Given the description of an element on the screen output the (x, y) to click on. 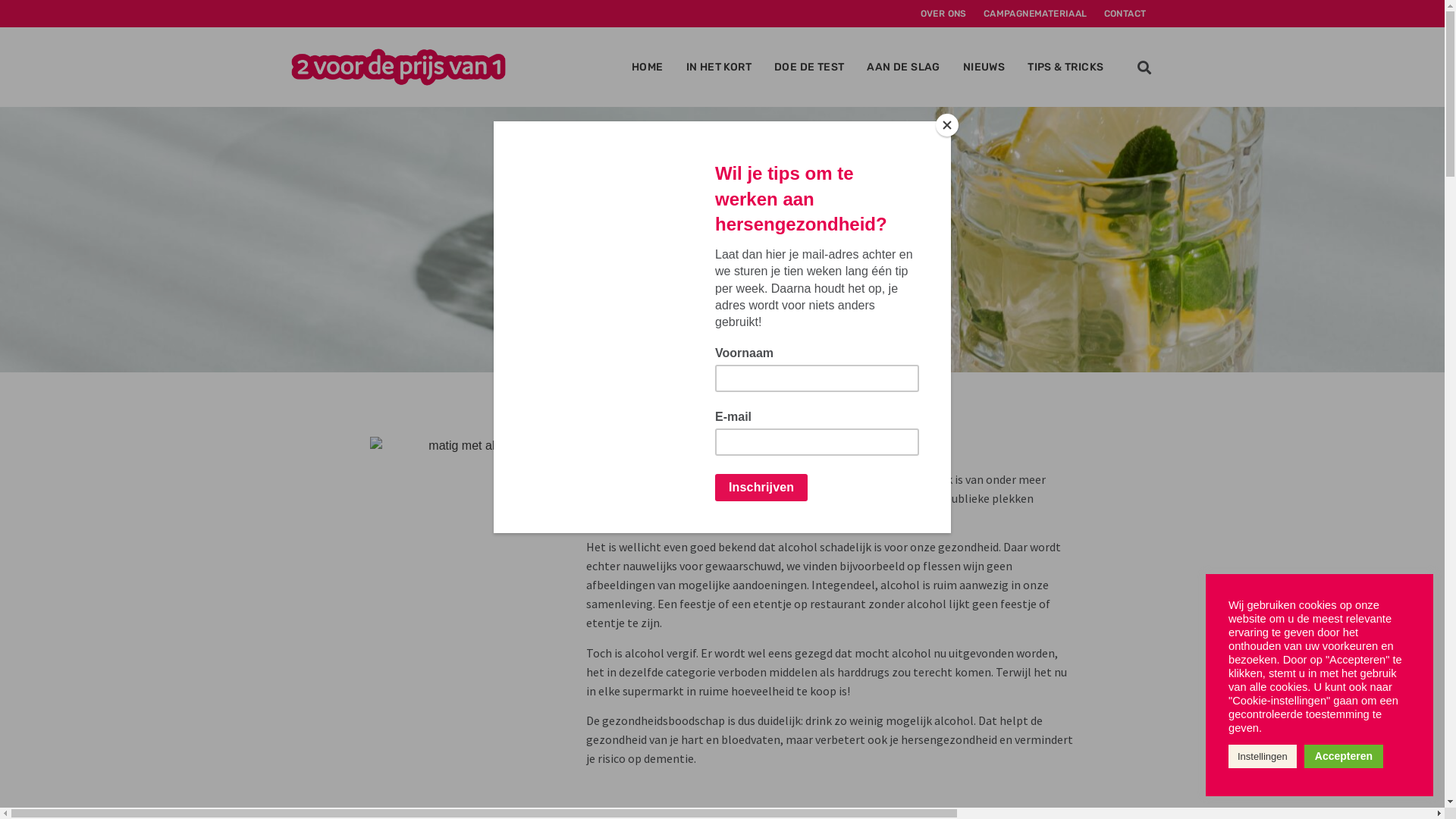
NIEUWS Element type: text (983, 66)
HOME Element type: text (647, 66)
CAMPAGNEMATERIAAL Element type: text (1035, 13)
Accepteren Element type: text (1343, 756)
TIPS & TRICKS Element type: text (1065, 66)
Instellingen Element type: text (1262, 756)
CONTACT Element type: text (1124, 13)
DOE DE TEST Element type: text (808, 66)
OVER ONS Element type: text (943, 13)
IN HET KORT Element type: text (718, 66)
AAN DE SLAG Element type: text (902, 66)
